Given the description of an element on the screen output the (x, y) to click on. 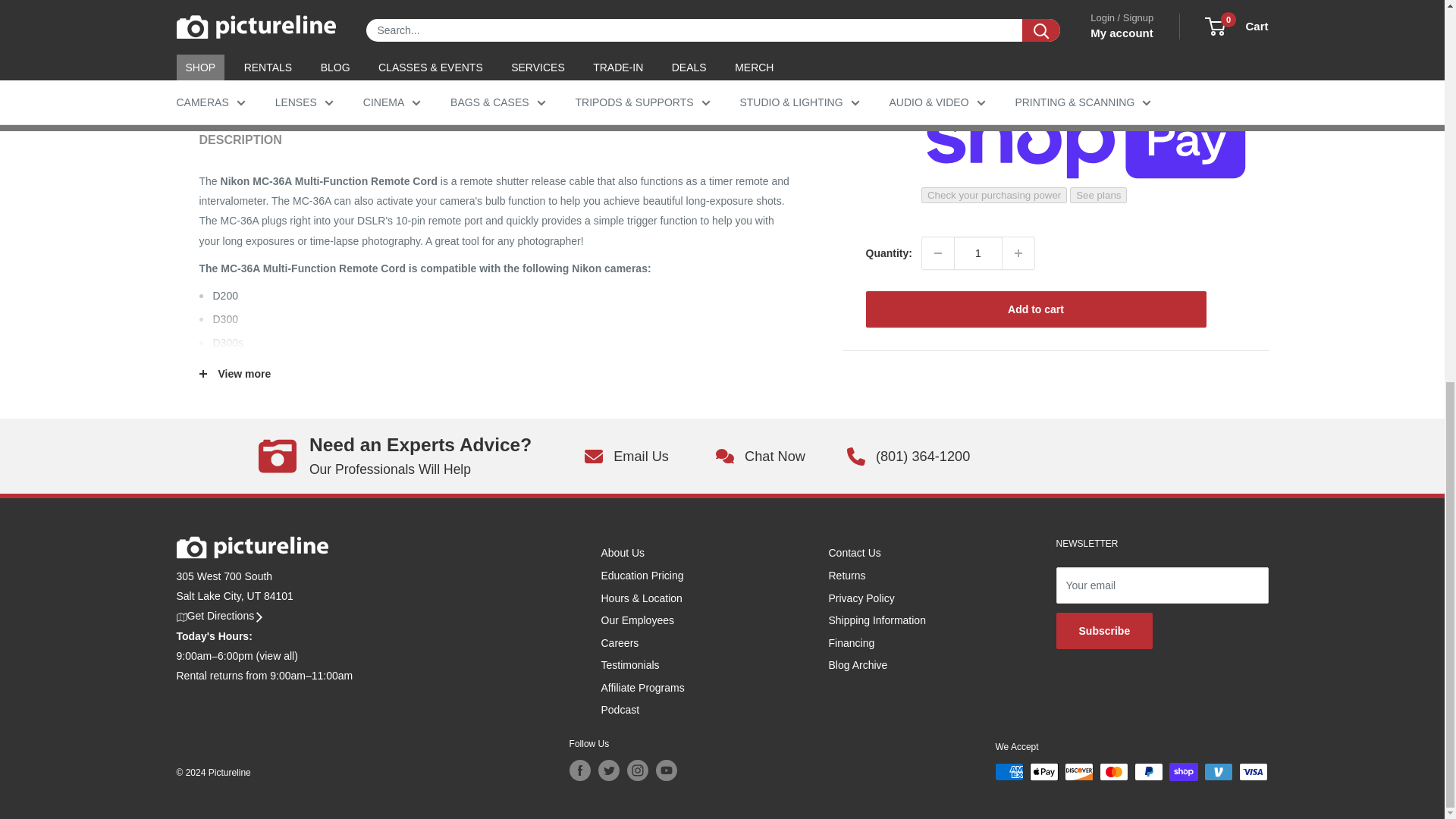
Nikon D500 DX Digital SLR Camera Body (224, 366)
